Given the description of an element on the screen output the (x, y) to click on. 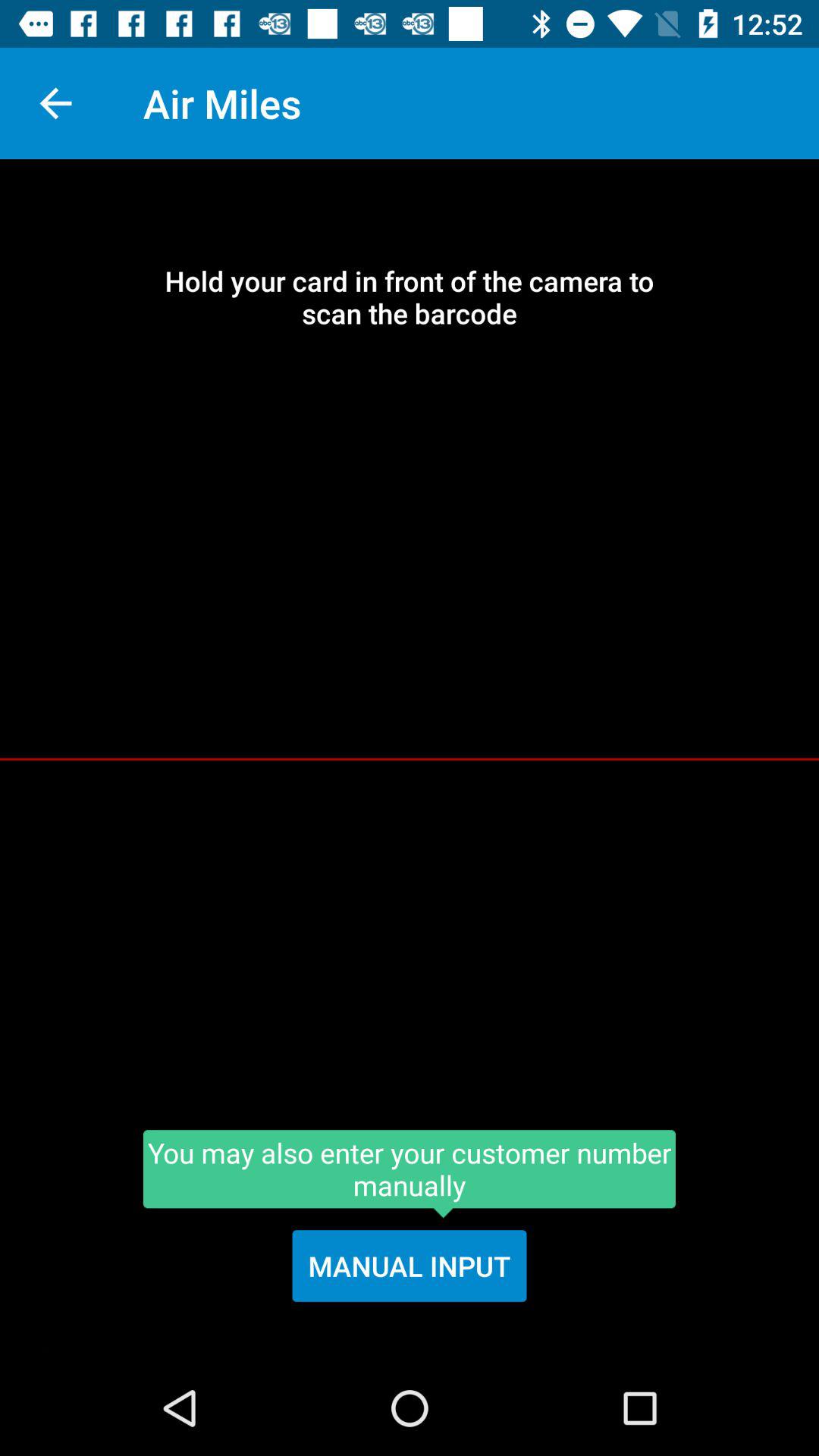
turn off item next to air miles icon (55, 103)
